Given the description of an element on the screen output the (x, y) to click on. 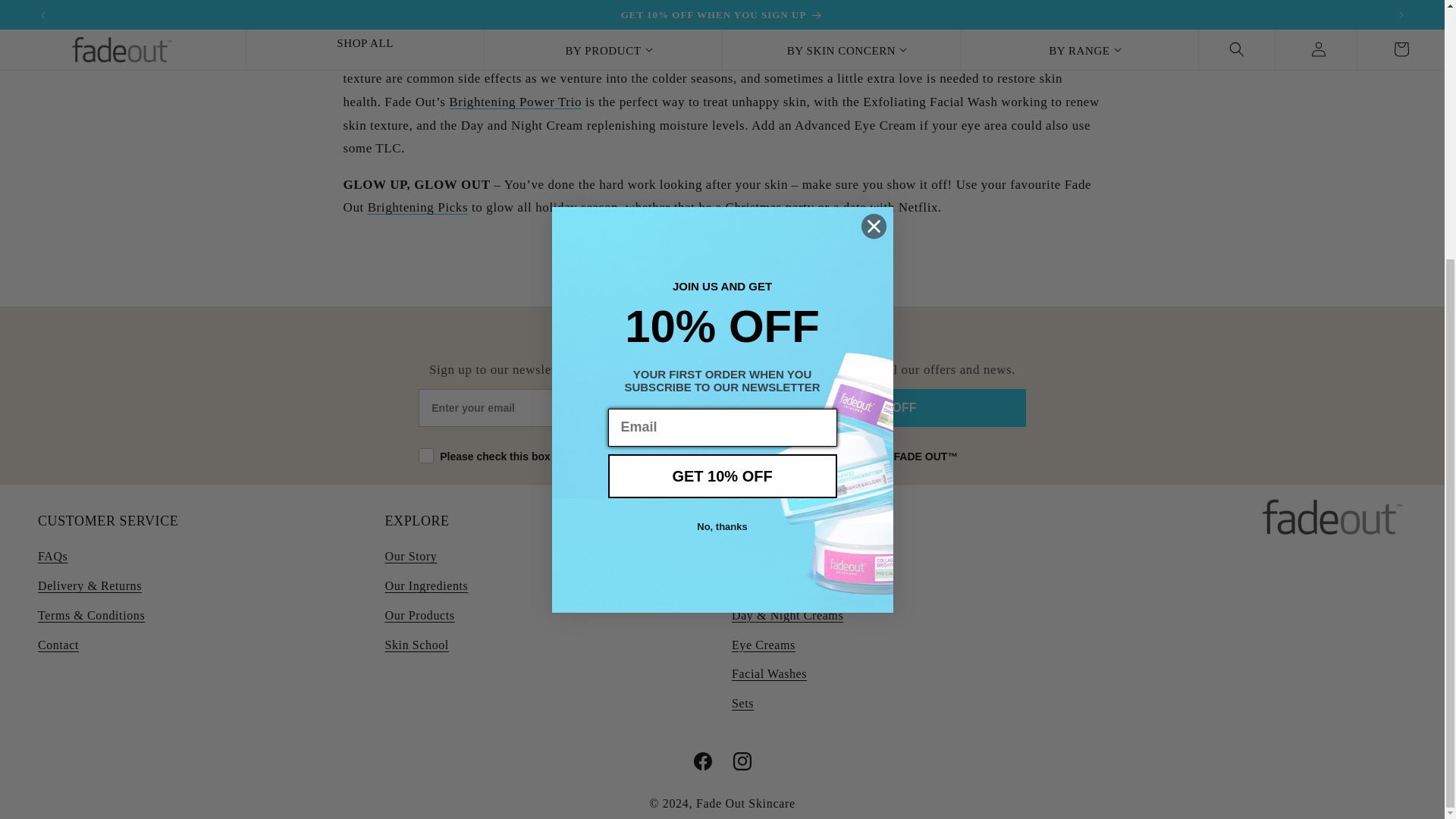
Shop All (418, 206)
on (423, 439)
Advanced Brightening Power Trio (514, 101)
